Given the description of an element on the screen output the (x, y) to click on. 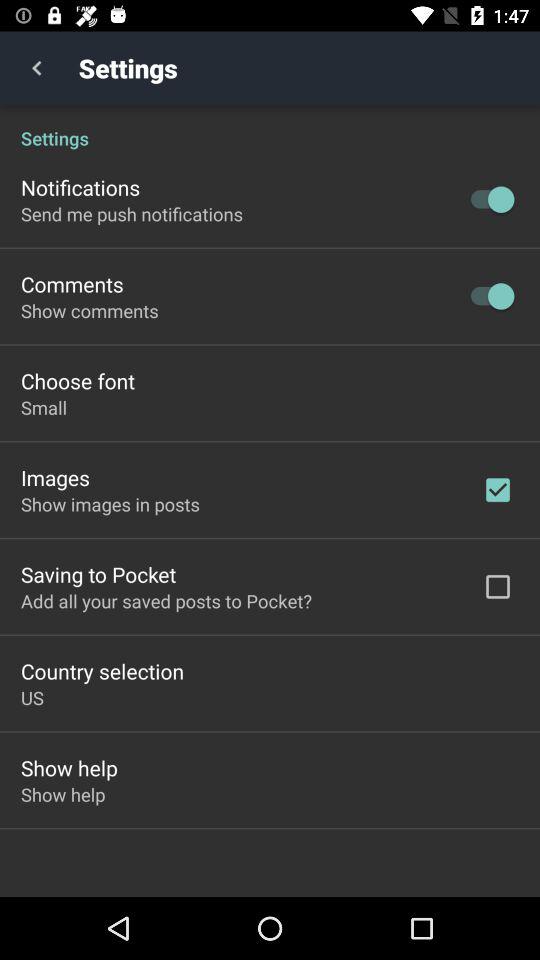
launch the item above choose font icon (89, 310)
